Given the description of an element on the screen output the (x, y) to click on. 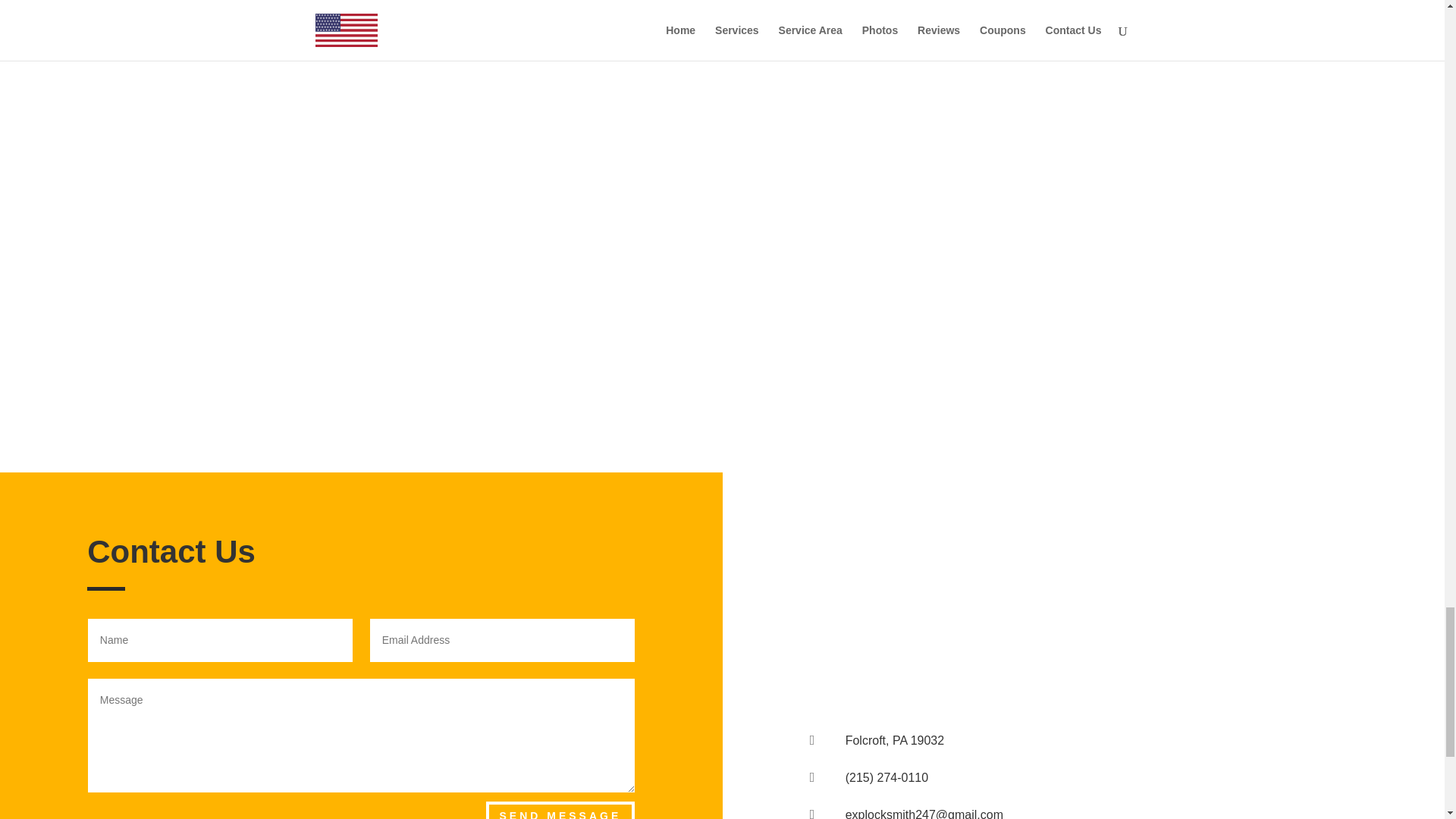
SEND MESSAGE (559, 810)
